Given the description of an element on the screen output the (x, y) to click on. 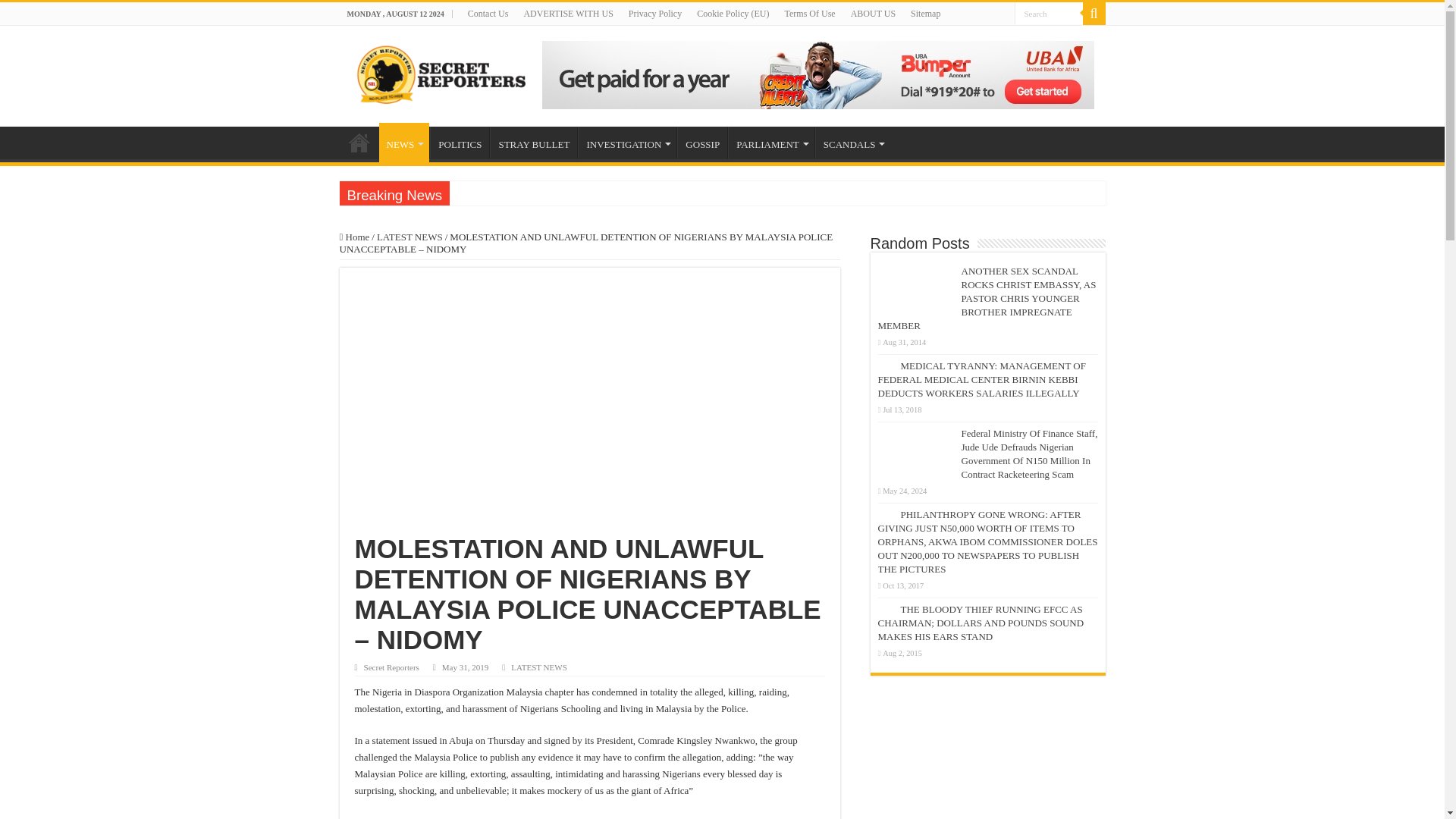
Sitemap (924, 13)
PARLIAMENT (770, 142)
NEWS (403, 142)
Search (1094, 13)
GOSSIP (701, 142)
ABOUT US (872, 13)
Secret Reporters (437, 73)
Terms Of Use (809, 13)
Privacy Policy (654, 13)
SCANDALS (853, 142)
